Given the description of an element on the screen output the (x, y) to click on. 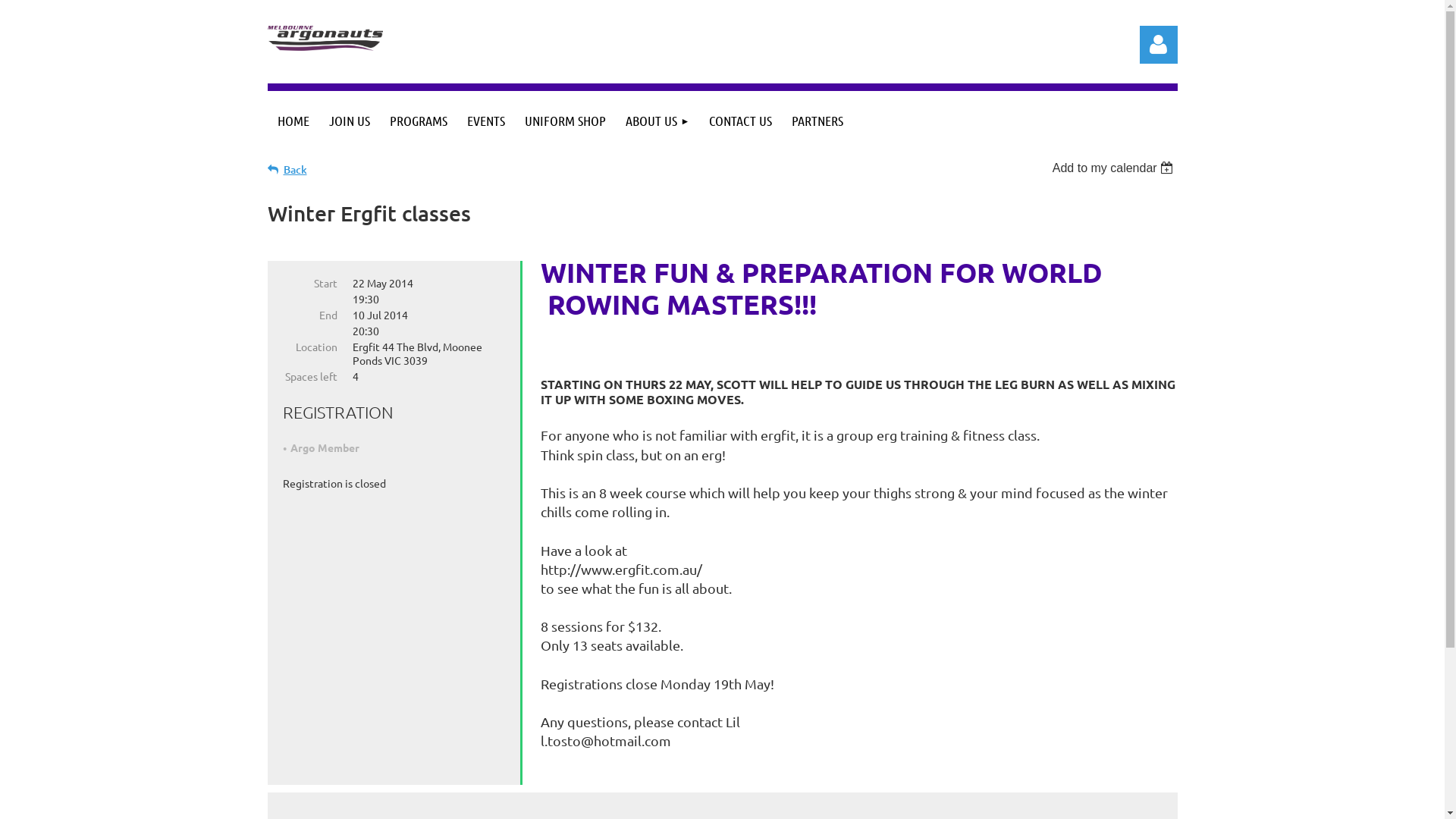
ABOUT US Element type: text (657, 120)
PROGRAMS Element type: text (417, 120)
JOIN US Element type: text (348, 120)
EVENTS Element type: text (485, 120)
UNIFORM SHOP Element type: text (564, 120)
Log in Element type: text (1157, 44)
PARTNERS Element type: text (817, 120)
Back Element type: text (286, 169)
HOME Element type: text (292, 120)
CONTACT US Element type: text (740, 120)
